Given the description of an element on the screen output the (x, y) to click on. 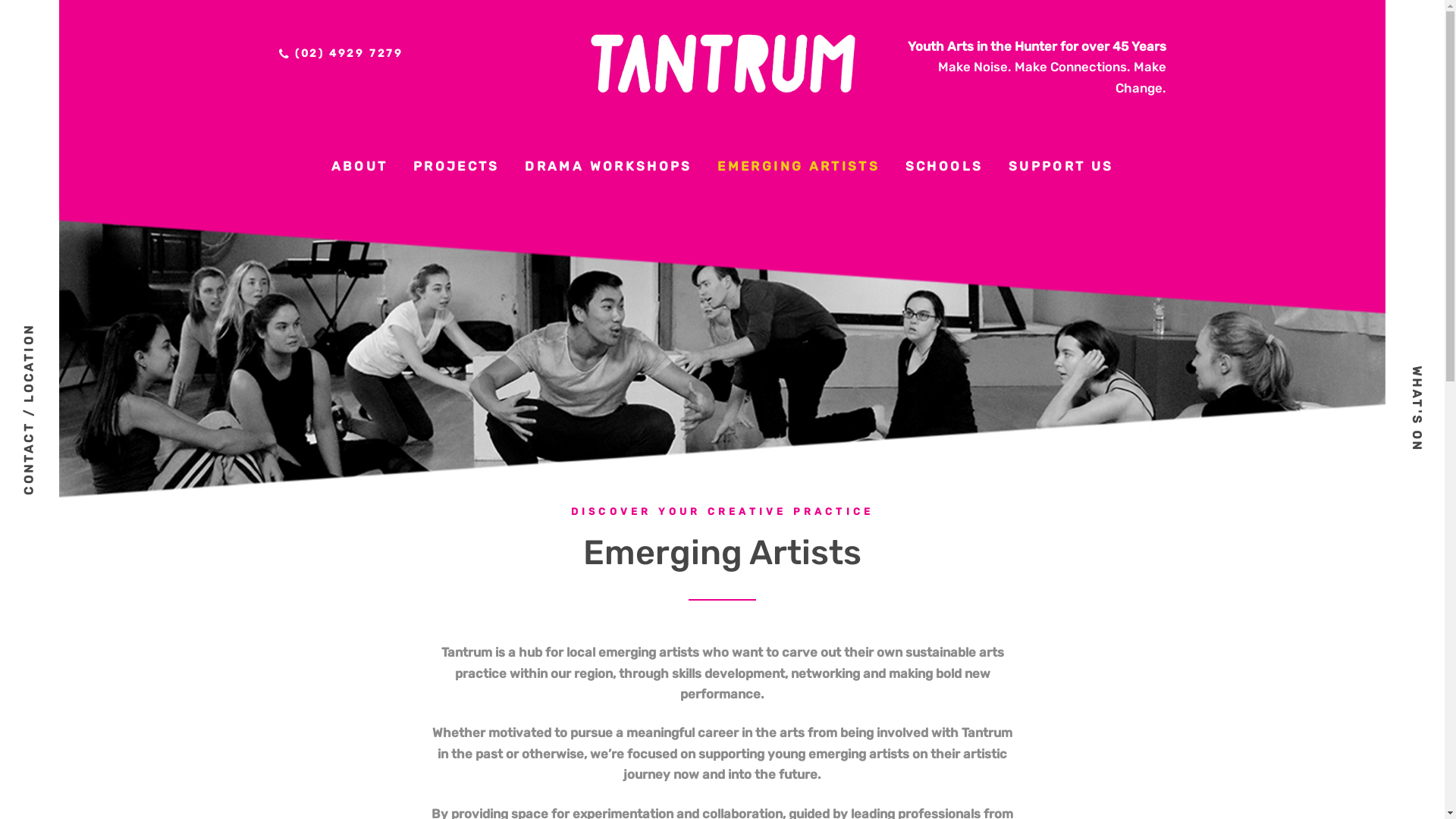
SCHOOLS Element type: text (943, 166)
ABOUT Element type: text (359, 166)
SUPPORT US Element type: text (1060, 166)
PROJECTS Element type: text (455, 166)
EMERGING ARTISTS Element type: text (798, 166)
DRAMA WORKSHOPS Element type: text (608, 166)
